Given the description of an element on the screen output the (x, y) to click on. 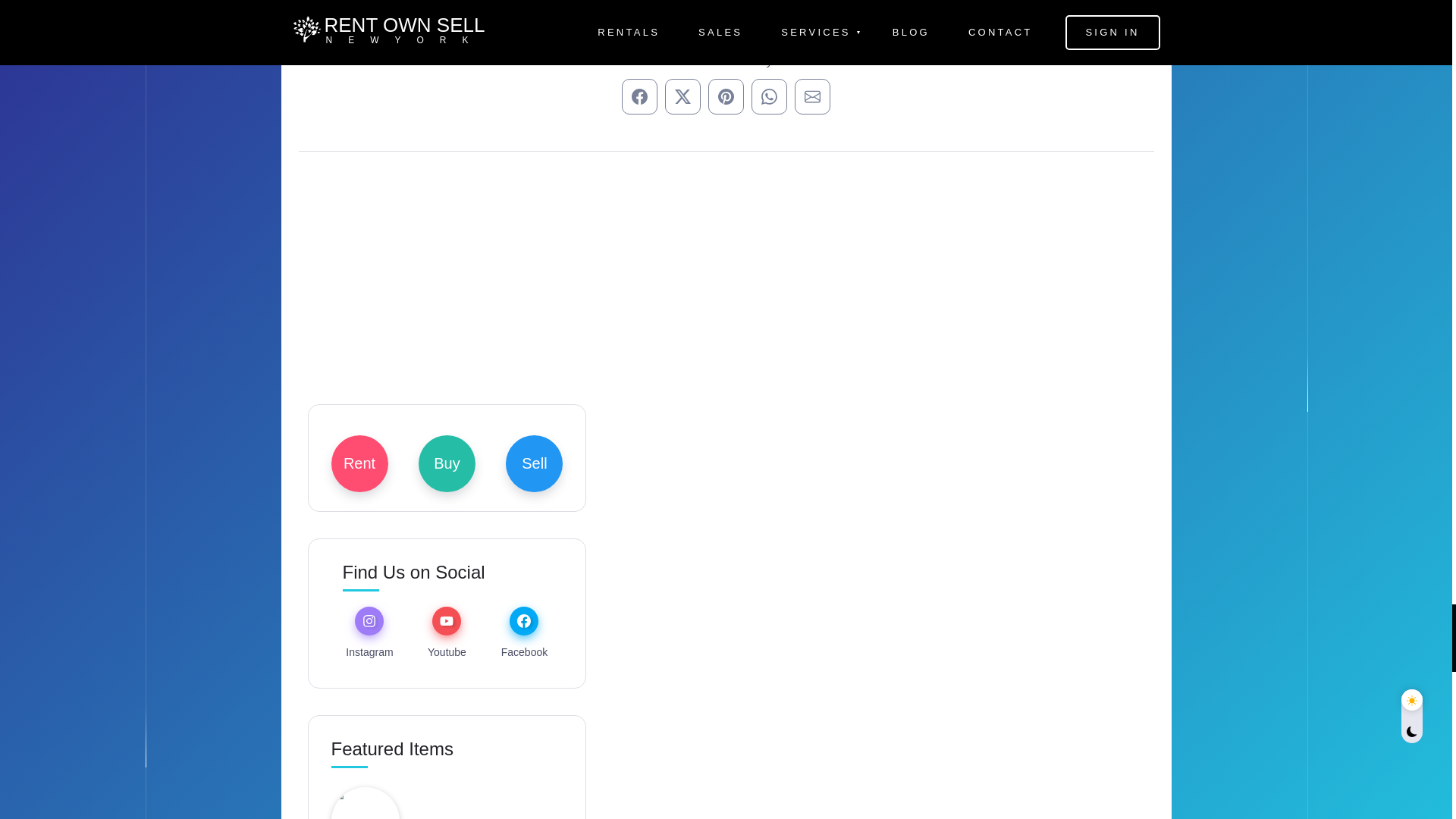
Facebook (523, 647)
10 Best Real Estate Podcasts (485, 817)
Instagram (369, 647)
Youtube (446, 647)
Rent (358, 463)
Suburbs Vs City: Which Is Right for You (475, 5)
Buy (447, 463)
Sell (533, 463)
